Given the description of an element on the screen output the (x, y) to click on. 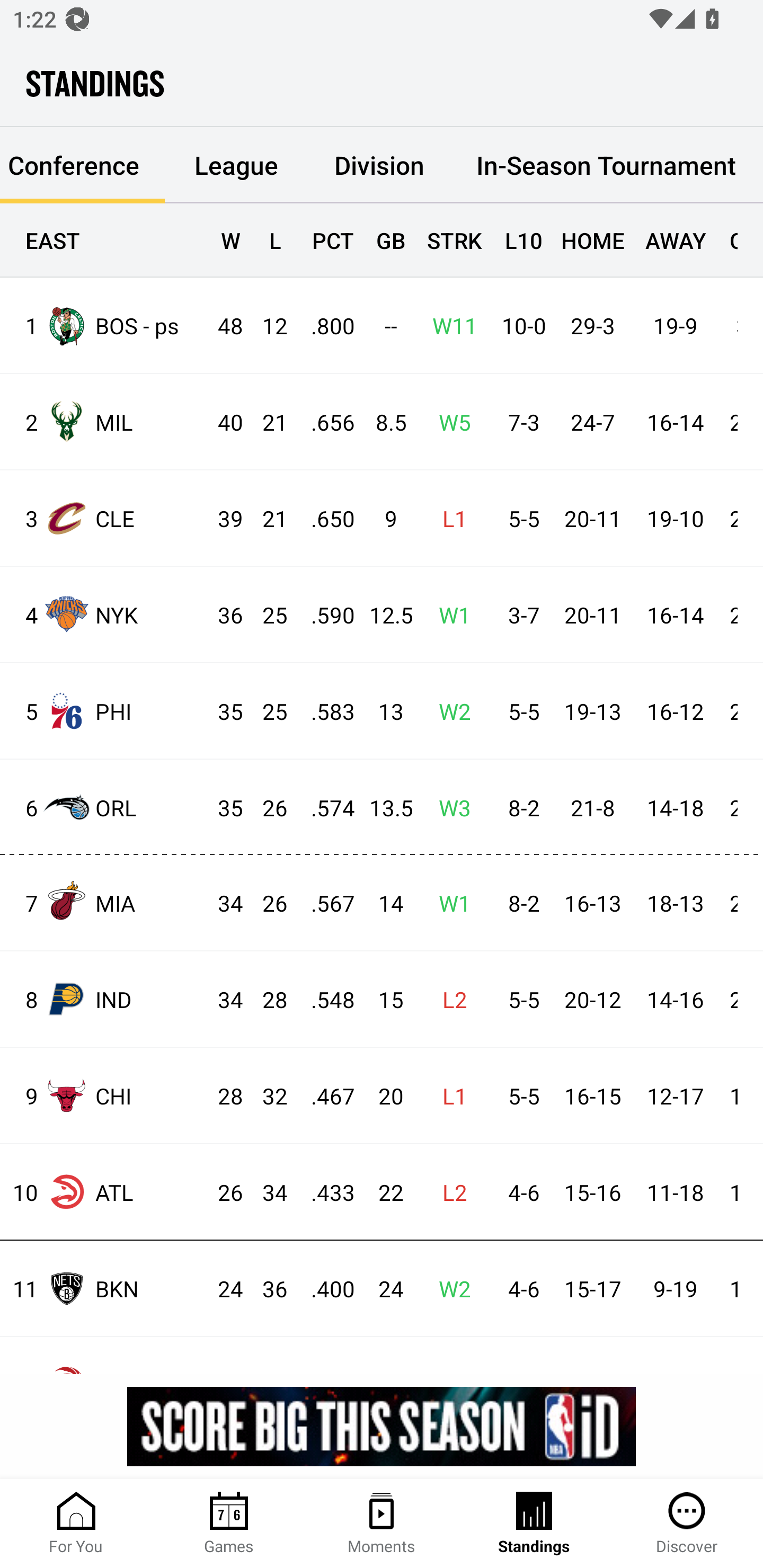
League (235, 165)
Division (378, 165)
In-Season Tournament (605, 165)
1 BOS - ps (104, 325)
2 MIL (104, 421)
3 CLE (104, 518)
4 NYK (104, 613)
5 PHI (104, 710)
6 ORL (104, 806)
7 MIA (104, 902)
8 IND (104, 999)
9 CHI (104, 1095)
10 ATL (104, 1192)
11 BKN (104, 1287)
For You (76, 1523)
Games (228, 1523)
Moments (381, 1523)
Discover (686, 1523)
